Given the description of an element on the screen output the (x, y) to click on. 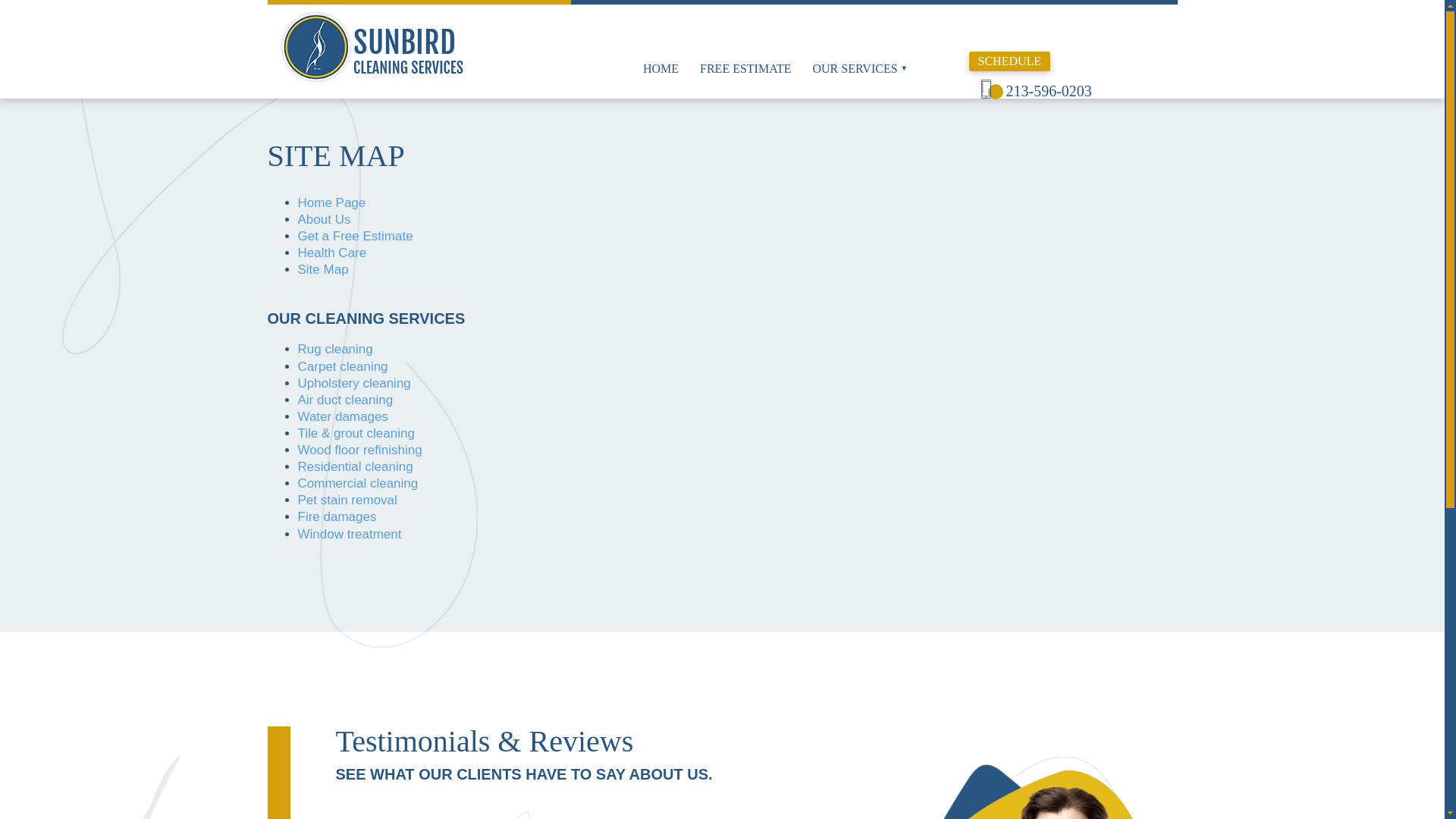
Rug cleaning (334, 349)
Water damages (342, 416)
Carpet cleaning (342, 366)
Home Page (331, 202)
Get a Free Estimate (354, 236)
Commercial cleaning (357, 482)
los-angeles-carpetcleaning.com (430, 46)
Wood floor refinishing (359, 450)
About Us (323, 219)
Health Care (331, 252)
